Given the description of an element on the screen output the (x, y) to click on. 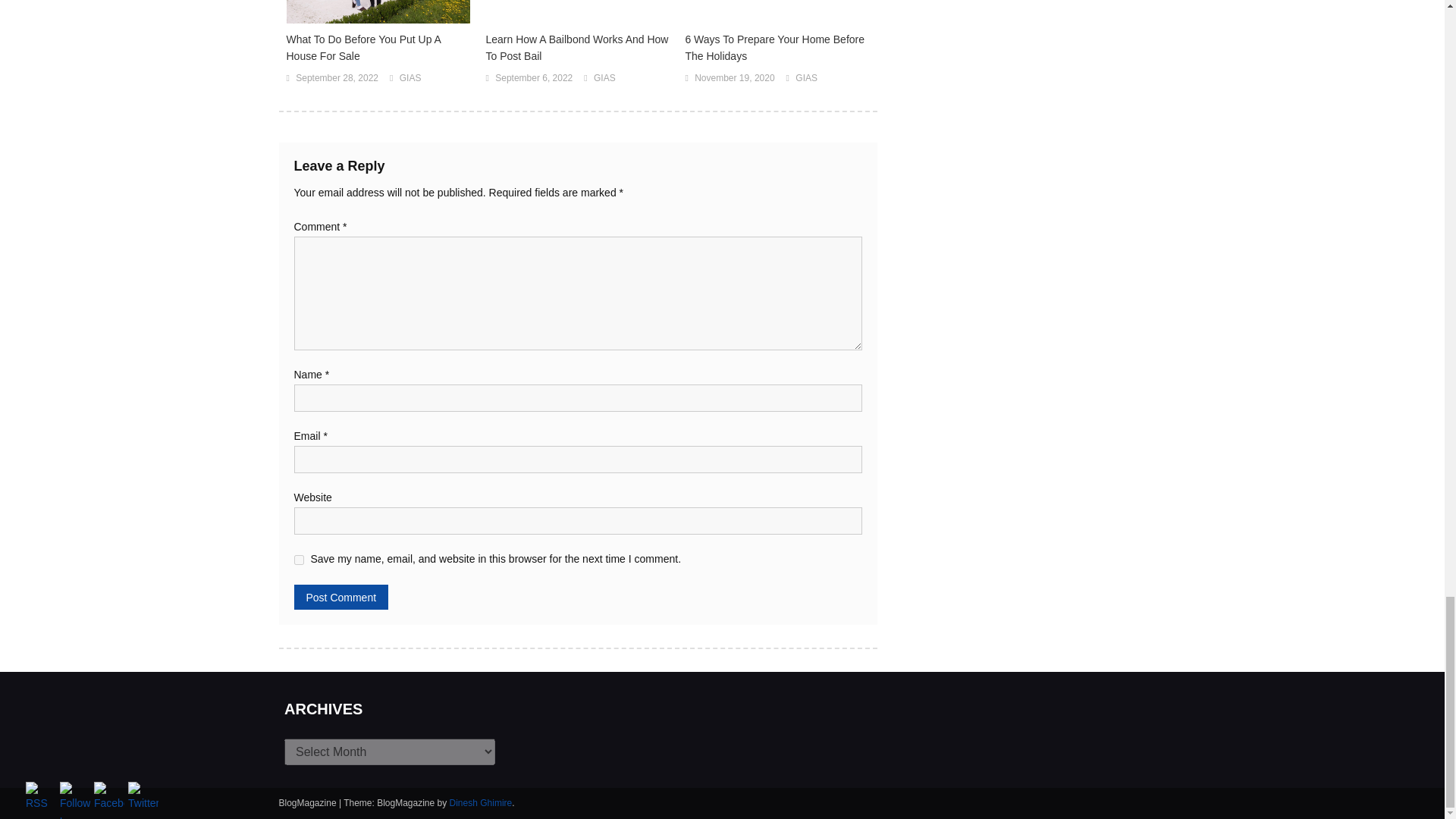
Post Comment (341, 596)
6 Ways To Prepare Your Home Before The Holidays (776, 47)
Twitter (143, 797)
RSS (41, 797)
Learn How A Bailbond Works And How To Post Bail (576, 47)
GIAS (604, 78)
GIAS (410, 78)
GIAS (805, 78)
What To Do Before You Put Up A House For Sale (378, 47)
November 19, 2020 (734, 78)
September 28, 2022 (336, 78)
September 6, 2022 (533, 78)
yes (299, 560)
Facebook (108, 797)
Post Comment (341, 596)
